Given the description of an element on the screen output the (x, y) to click on. 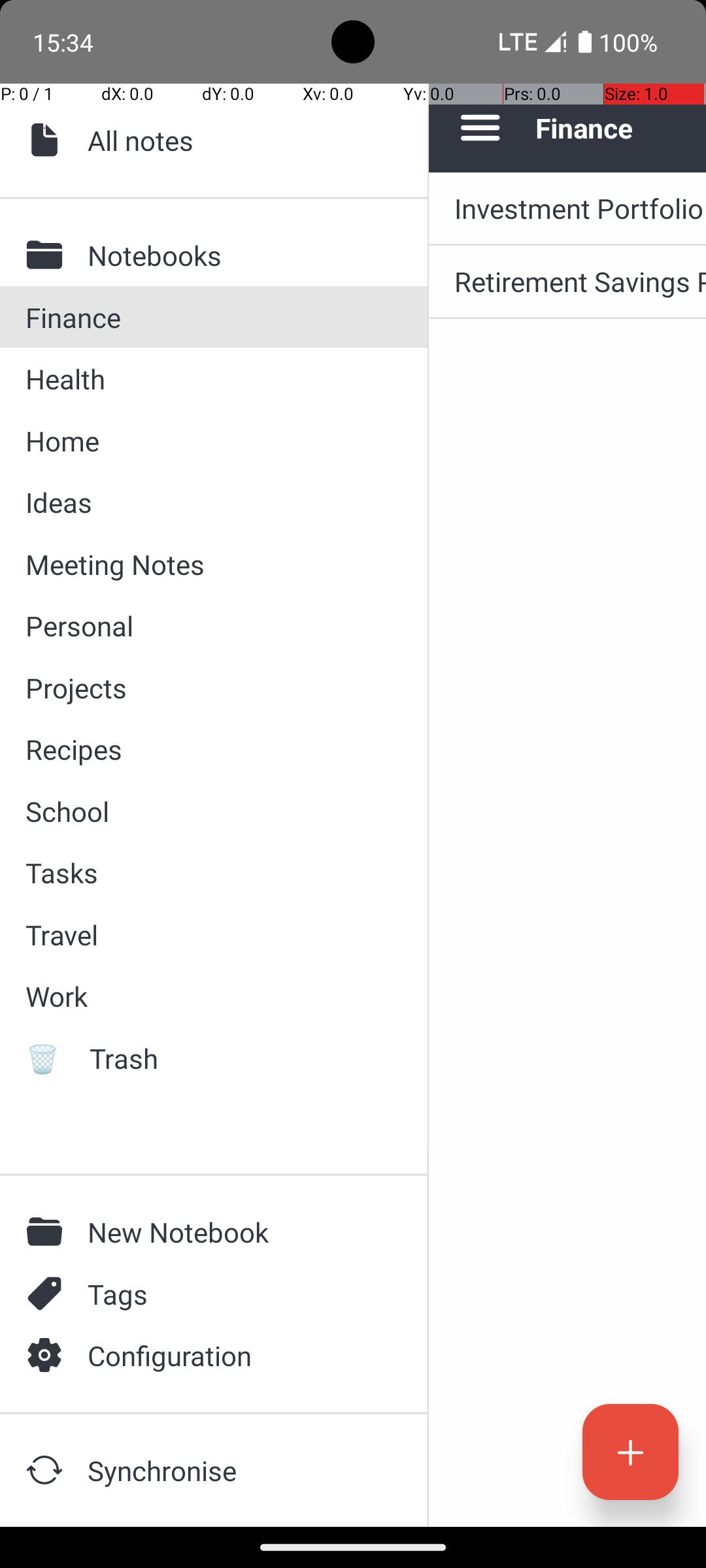
 Element type: android.widget.TextView (47, 254)
Notebooks Element type: android.widget.TextView (235, 254)
 Element type: android.widget.TextView (47, 1231)
New Notebook Element type: android.widget.TextView (235, 1231)
 Element type: android.widget.TextView (47, 1293)
Tags Element type: android.widget.TextView (235, 1293)
 Element type: android.widget.TextView (47, 1354)
Configuration Element type: android.widget.TextView (235, 1354)
 Element type: android.widget.TextView (47, 1469)
Synchronise Element type: android.widget.TextView (235, 1469)
Investment Portfolio Summary Element type: android.widget.TextView (580, 207)
 Element type: android.widget.TextView (47, 139)
Meeting Notes Element type: android.widget.TextView (213, 563)
🗑️ Element type: android.widget.TextView (48, 1057)
